Given the description of an element on the screen output the (x, y) to click on. 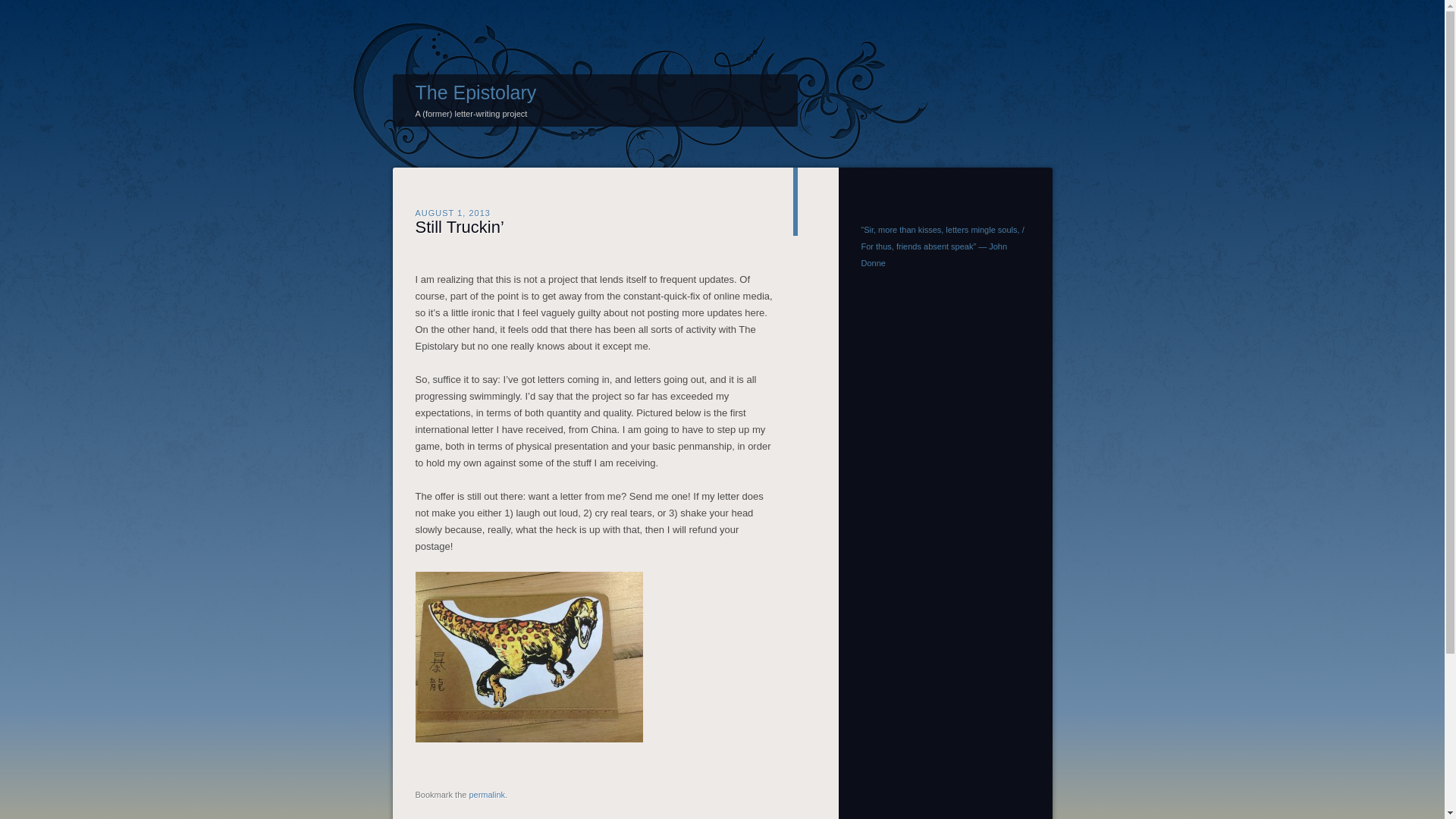
The Epistolary (475, 92)
The Epistolary (475, 92)
AUGUST 1, 2013 (452, 212)
permalink (486, 794)
4:47 pm (452, 212)
